Given the description of an element on the screen output the (x, y) to click on. 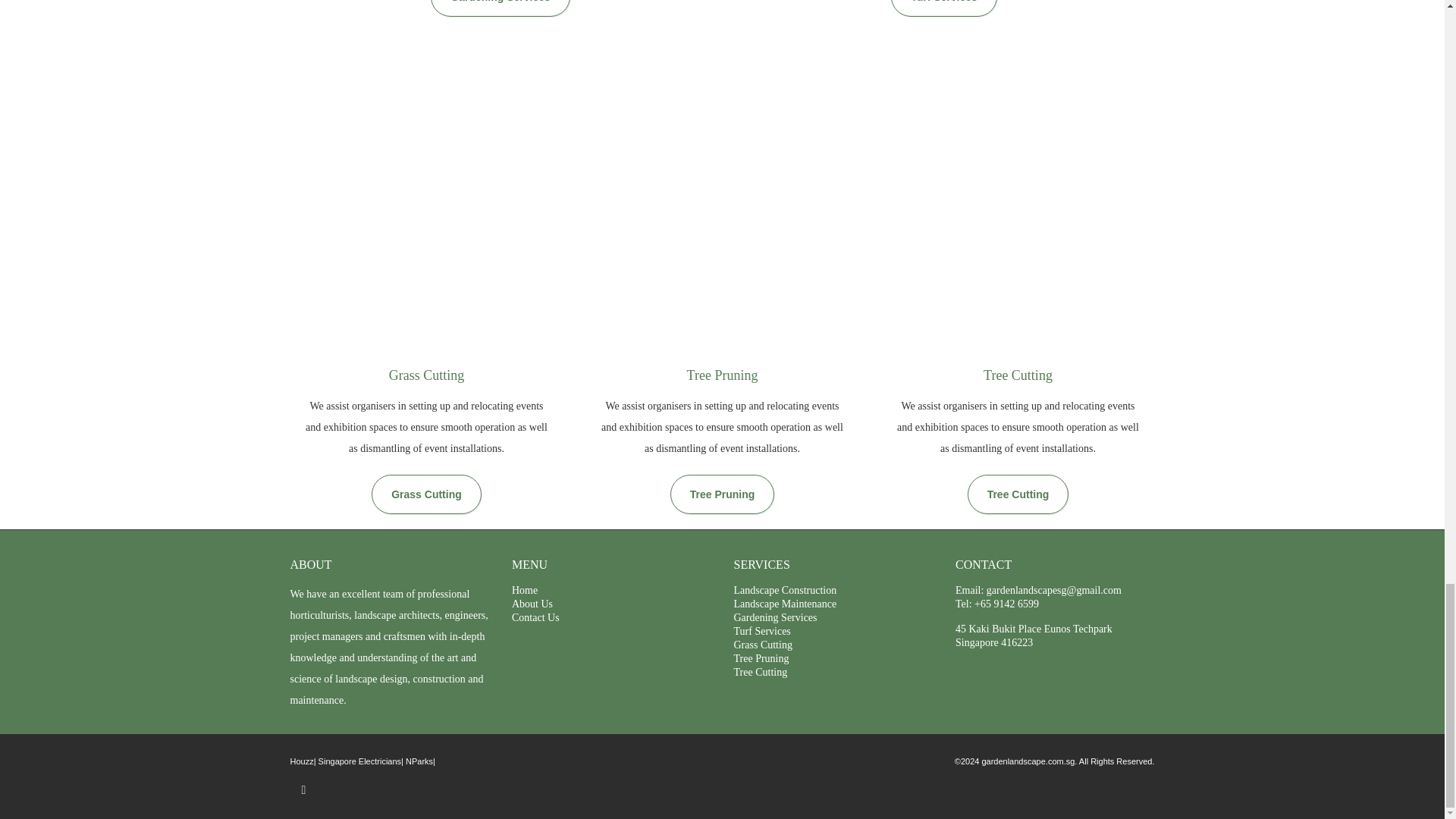
Gardening Services (774, 617)
Gardening Services (500, 8)
Landscape Construction (785, 590)
Tree Cutting (1018, 494)
About Us (532, 603)
Landscape Maintenance (785, 603)
Grass Cutting (762, 644)
Turf Services (761, 631)
Home (524, 590)
Tree Pruning (721, 494)
